Given the description of an element on the screen output the (x, y) to click on. 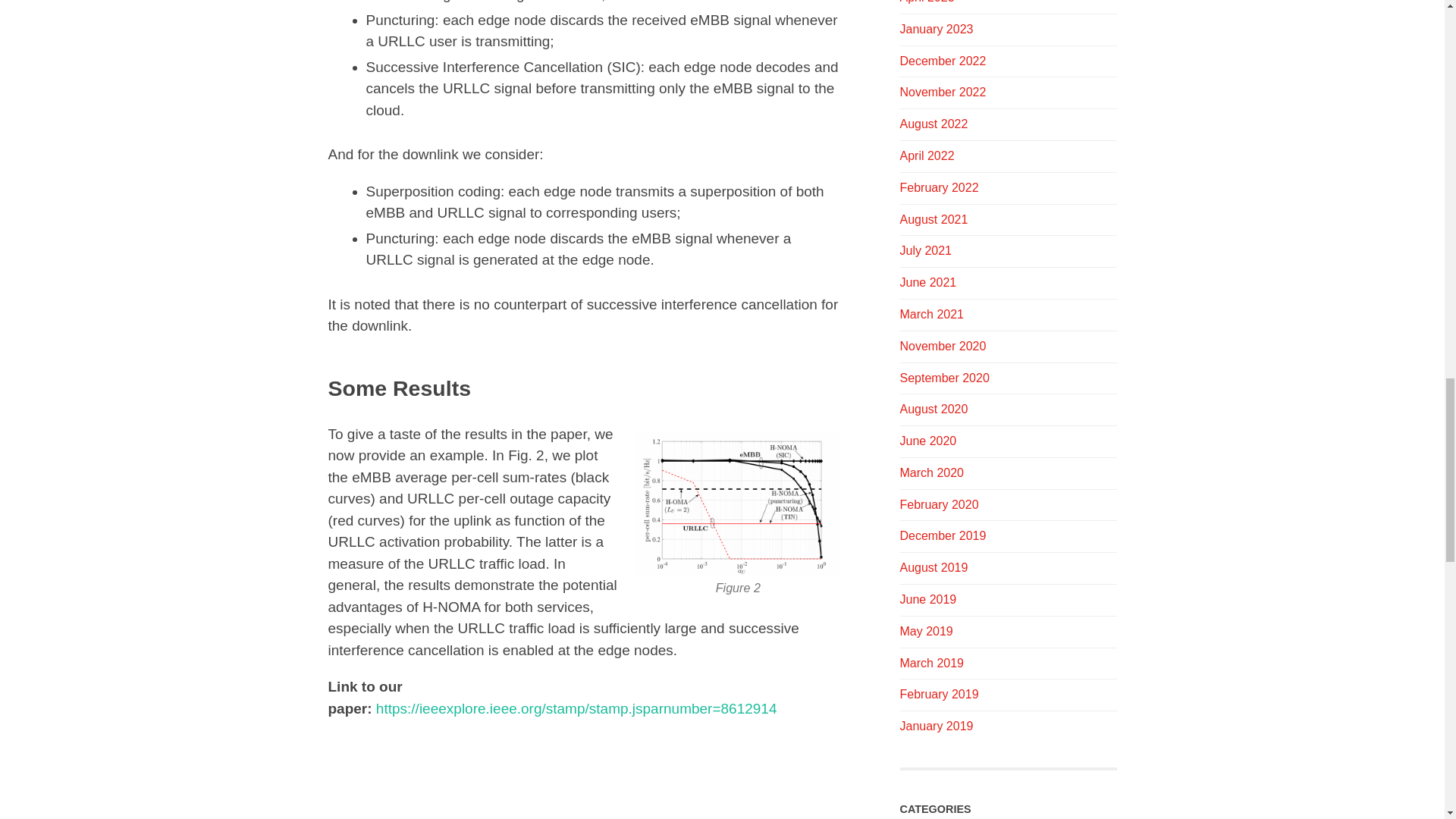
April 2023 (926, 2)
January 2023 (935, 29)
December 2022 (942, 60)
November 2022 (942, 91)
August 2022 (933, 123)
